Given the description of an element on the screen output the (x, y) to click on. 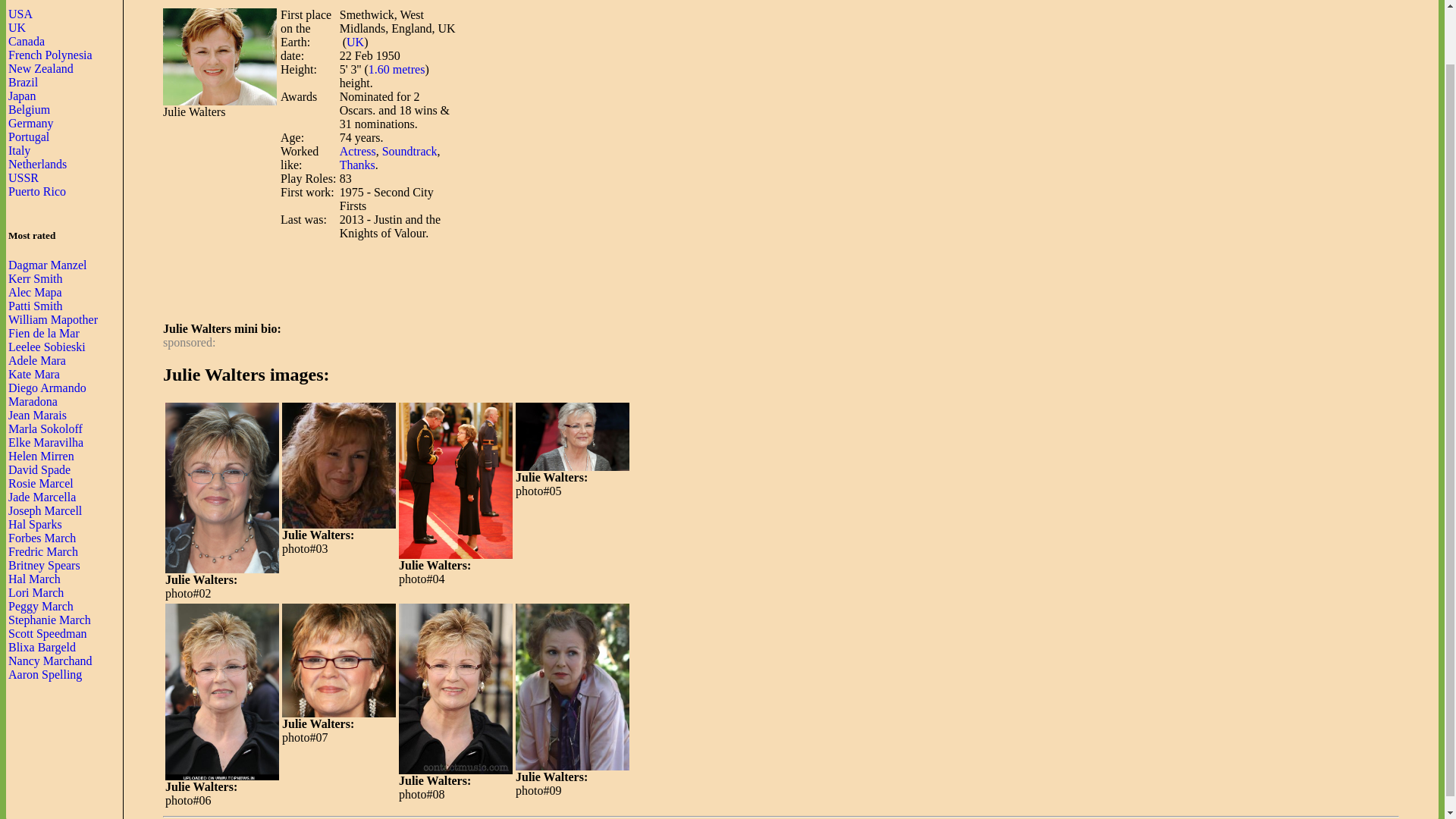
UK (17, 27)
Netherlands (37, 164)
Marla Sokoloff (45, 428)
Jade Marcella (41, 496)
USSR (23, 177)
French Polynesia (50, 54)
USA (20, 13)
Puerto Rico (36, 191)
New Zealand (41, 68)
David Spade (38, 469)
French Polynesia (50, 54)
Fien de la Mar (44, 332)
Belgium (28, 109)
USSR  (23, 177)
Germany (30, 123)
